Given the description of an element on the screen output the (x, y) to click on. 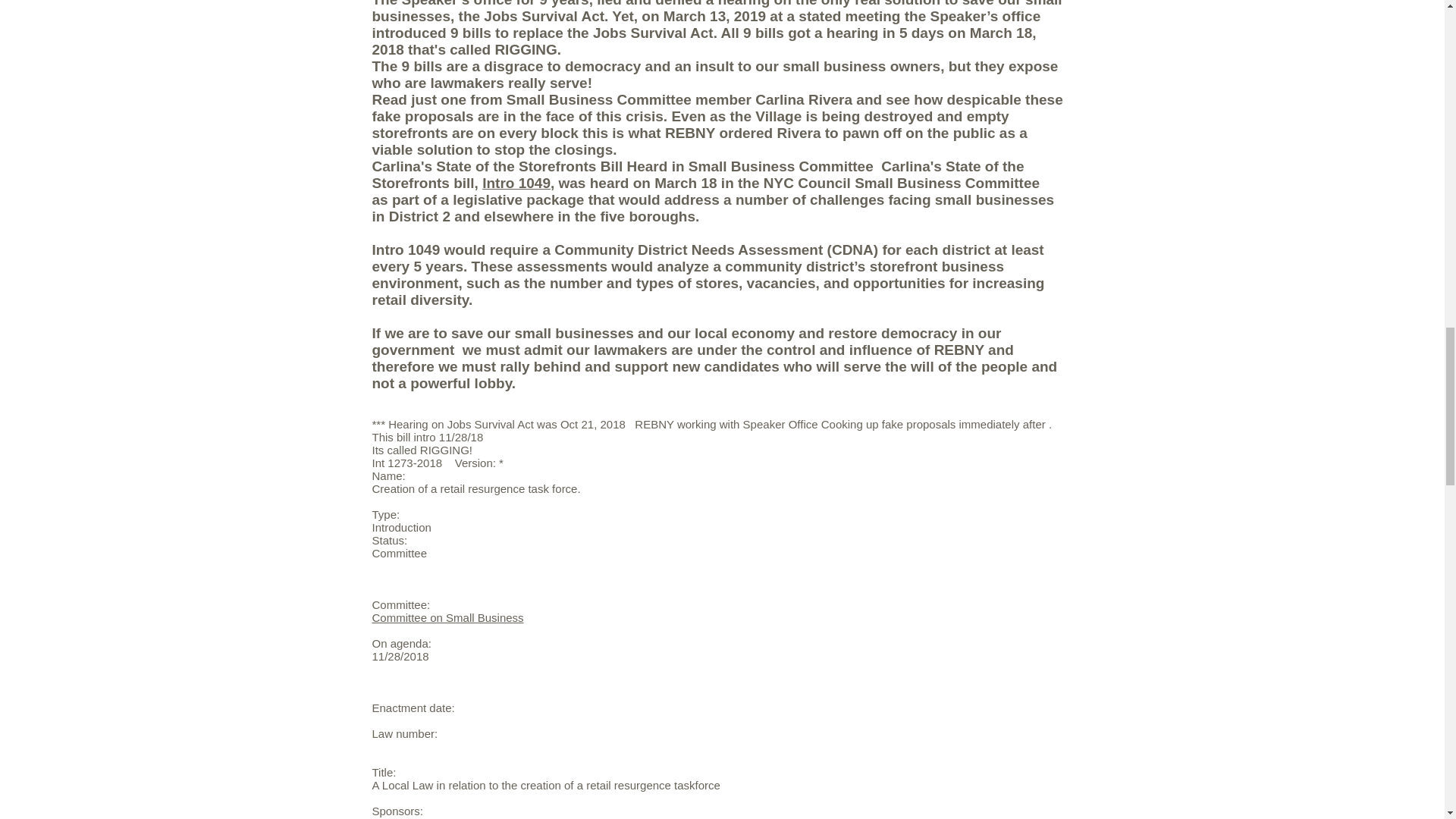
Justin L. Brannan (505, 818)
Rory I. Lancman (412, 818)
Intro 1049 (515, 182)
Mark Gjonaj (586, 818)
Committee on Small Business (446, 617)
